Given the description of an element on the screen output the (x, y) to click on. 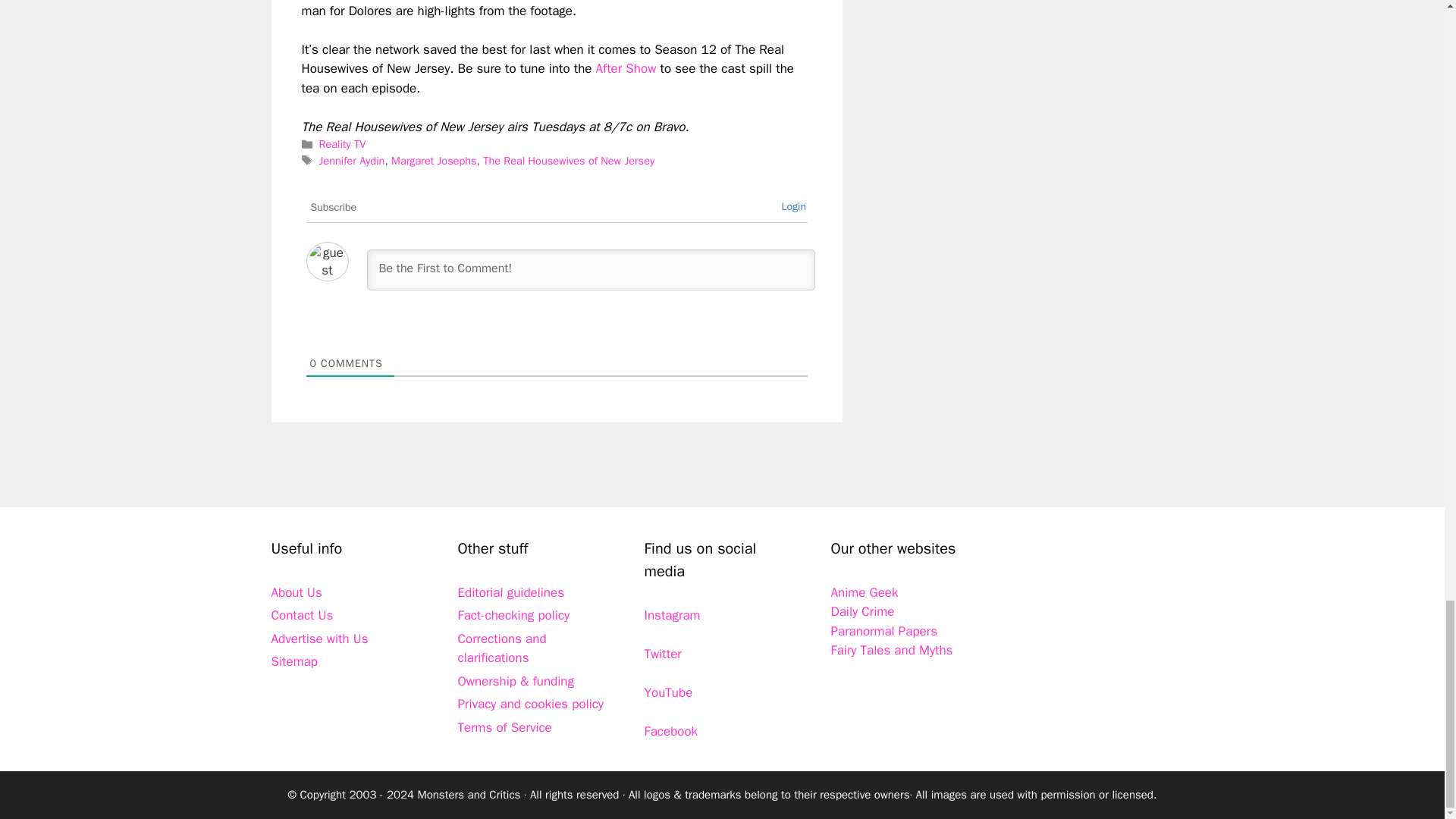
Terms of Service (504, 727)
Privacy and cookies policy (531, 703)
Login (793, 205)
About Us (295, 592)
Corrections and clarifications (502, 648)
Fact-checking policy (514, 615)
Contact Us (301, 615)
The Real Housewives of New Jersey (568, 160)
Advertise with Us (319, 638)
After Show (625, 68)
